Given the description of an element on the screen output the (x, y) to click on. 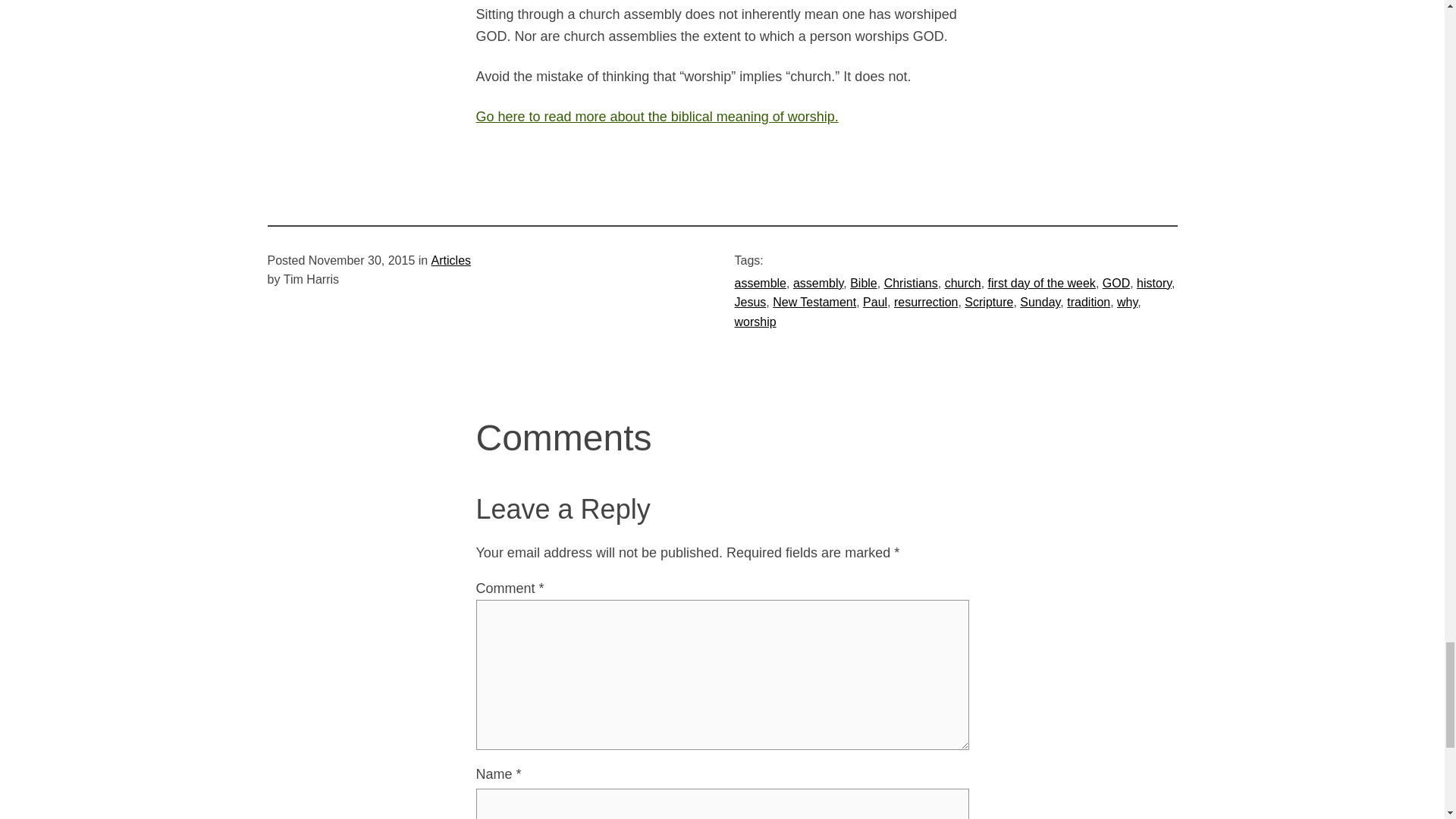
church (962, 282)
history (1154, 282)
Sunday (1039, 301)
Articles (450, 259)
resurrection (925, 301)
assembly (818, 282)
first day of the week (1042, 282)
Paul (874, 301)
New Testament (814, 301)
assemble (759, 282)
